Given the description of an element on the screen output the (x, y) to click on. 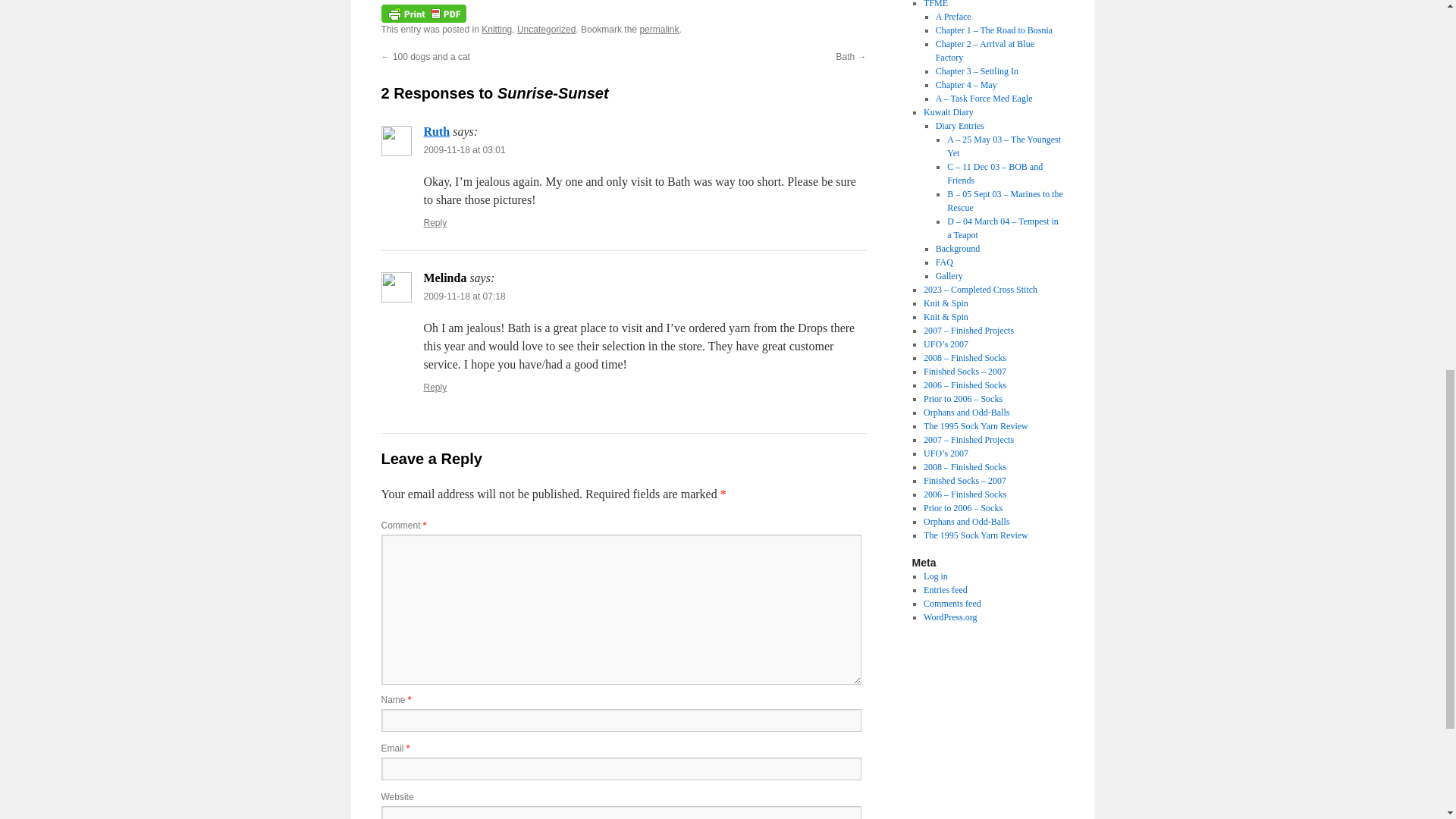
Permalink to Sunrise-Sunset (658, 29)
Ruth (436, 131)
Reply (434, 387)
permalink (658, 29)
Reply (434, 222)
Knitting (496, 29)
2009-11-18 at 03:01 (464, 149)
Uncategorized (545, 29)
2009-11-18 at 07:18 (464, 296)
